Given the description of an element on the screen output the (x, y) to click on. 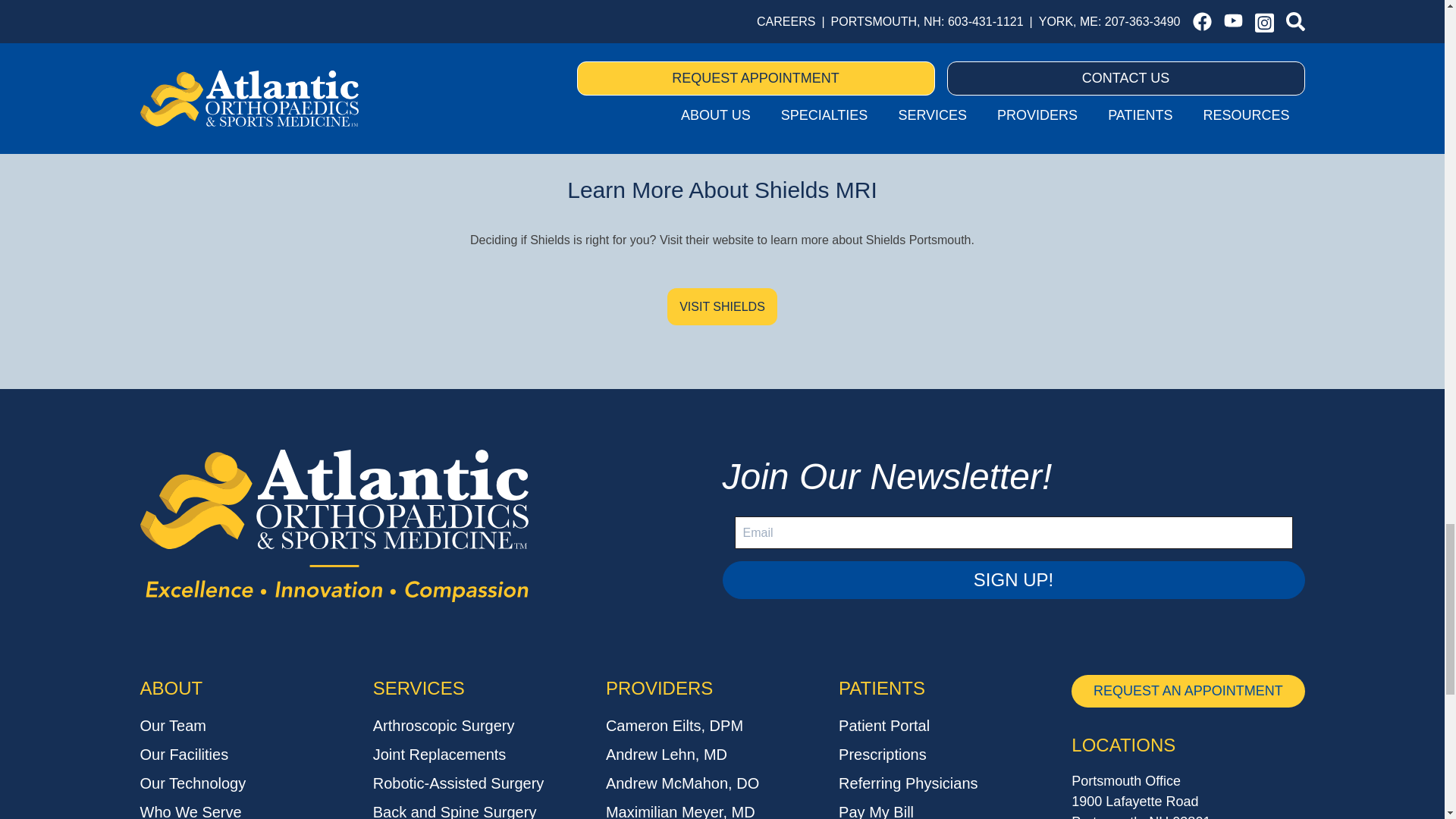
Sign Up! (1013, 579)
